Given the description of an element on the screen output the (x, y) to click on. 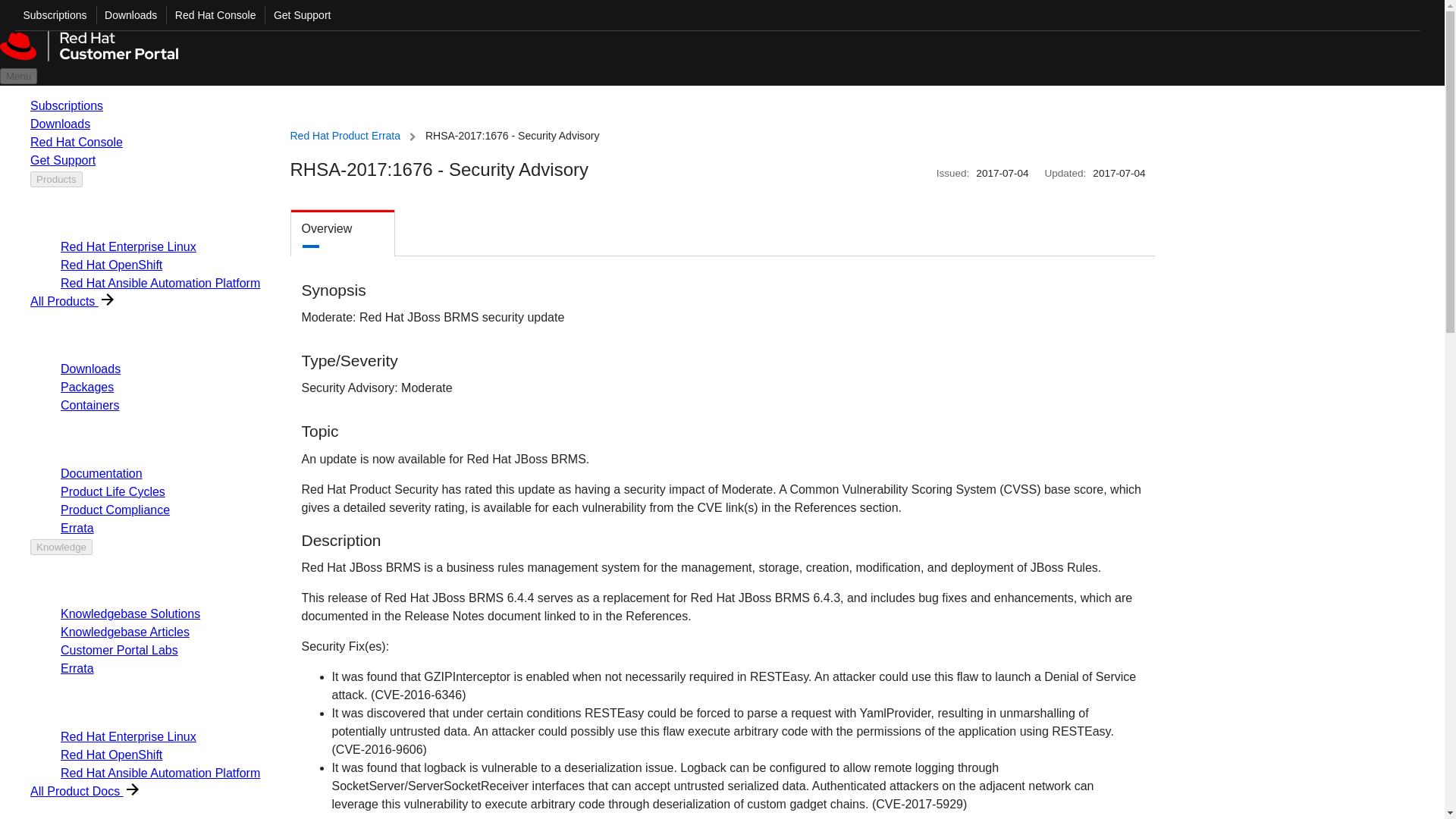
Downloads (126, 14)
Subscriptions (50, 14)
Get Support (297, 14)
Red Hat Console (210, 14)
